Given the description of an element on the screen output the (x, y) to click on. 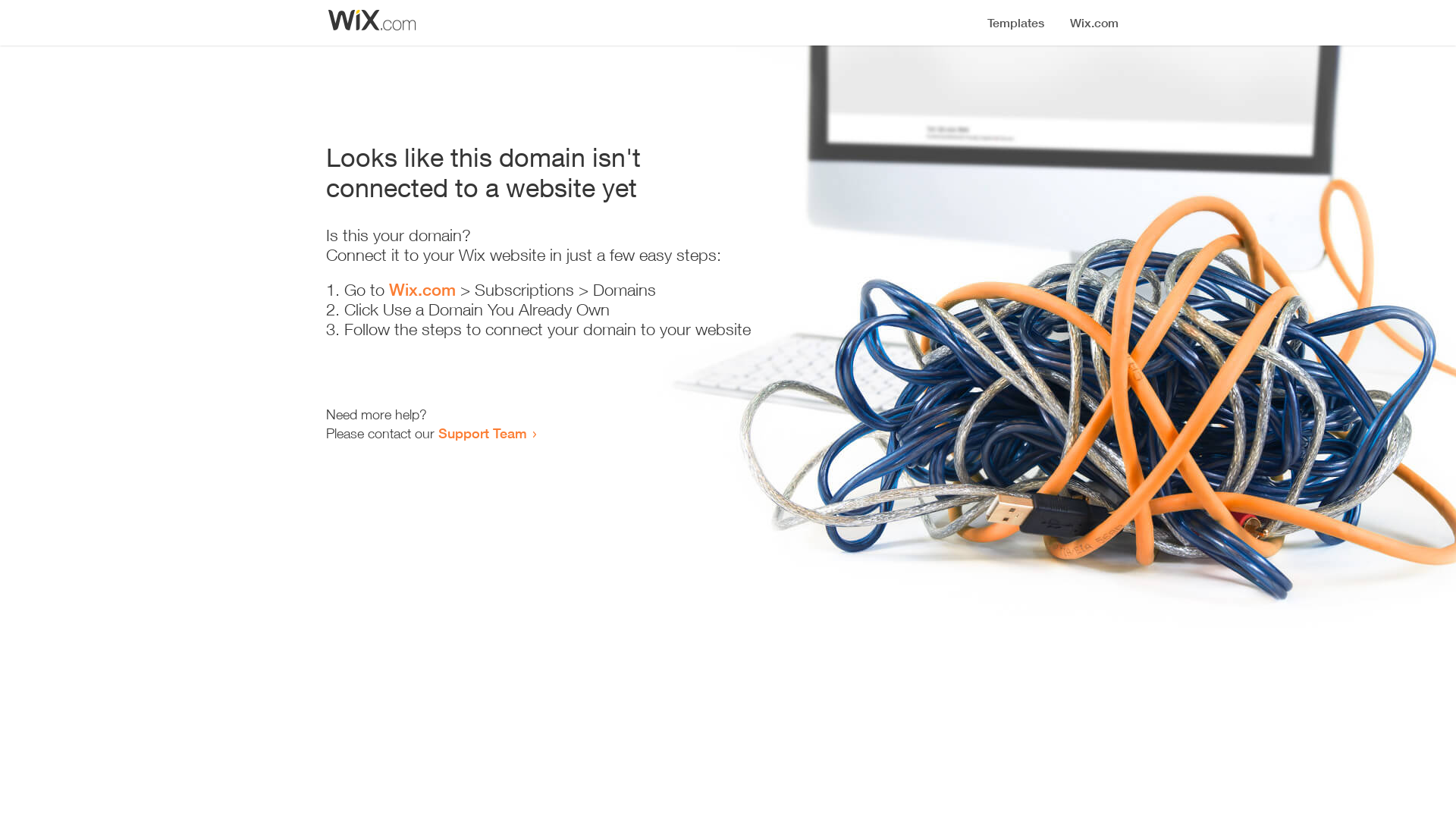
Wix.com Element type: text (422, 289)
Support Team Element type: text (482, 432)
